Given the description of an element on the screen output the (x, y) to click on. 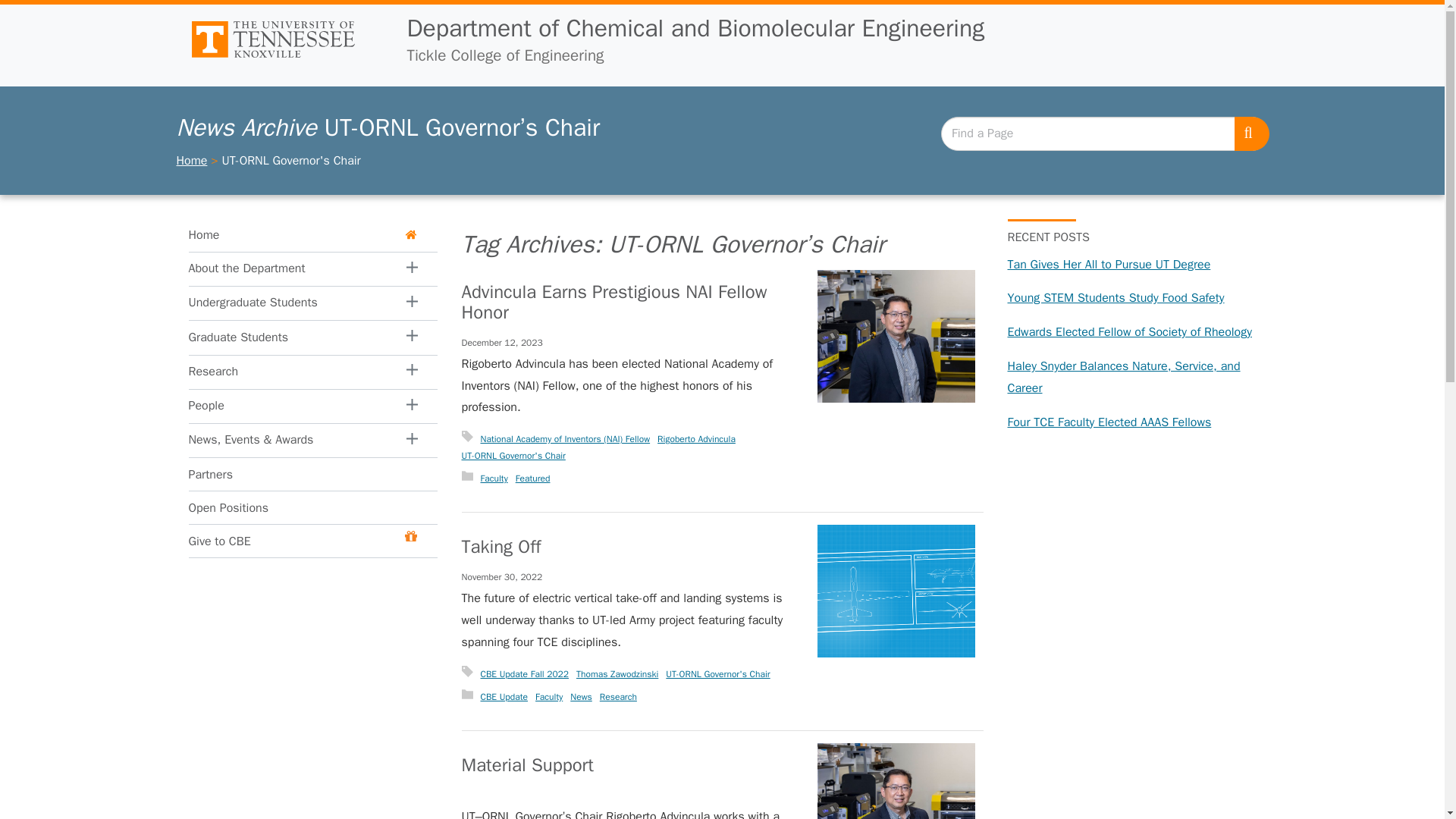
Toggle Sub Menu (212, 371)
Go to Department of Chemical and Biomolecular Engineering. (191, 160)
Toggle Sub Menu (412, 268)
About the Department (287, 268)
Skip to content (13, 13)
Department of Chemical and Biomolecular Engineering (695, 28)
Undergraduate Students (287, 302)
Toggle Sub Menu (212, 336)
The University of Tennessee, Knoxville (285, 39)
Home (301, 235)
Toggle Sub Menu (212, 372)
Toggle Sub Menu (412, 303)
Tickle College of Engineering (695, 64)
